Given the description of an element on the screen output the (x, y) to click on. 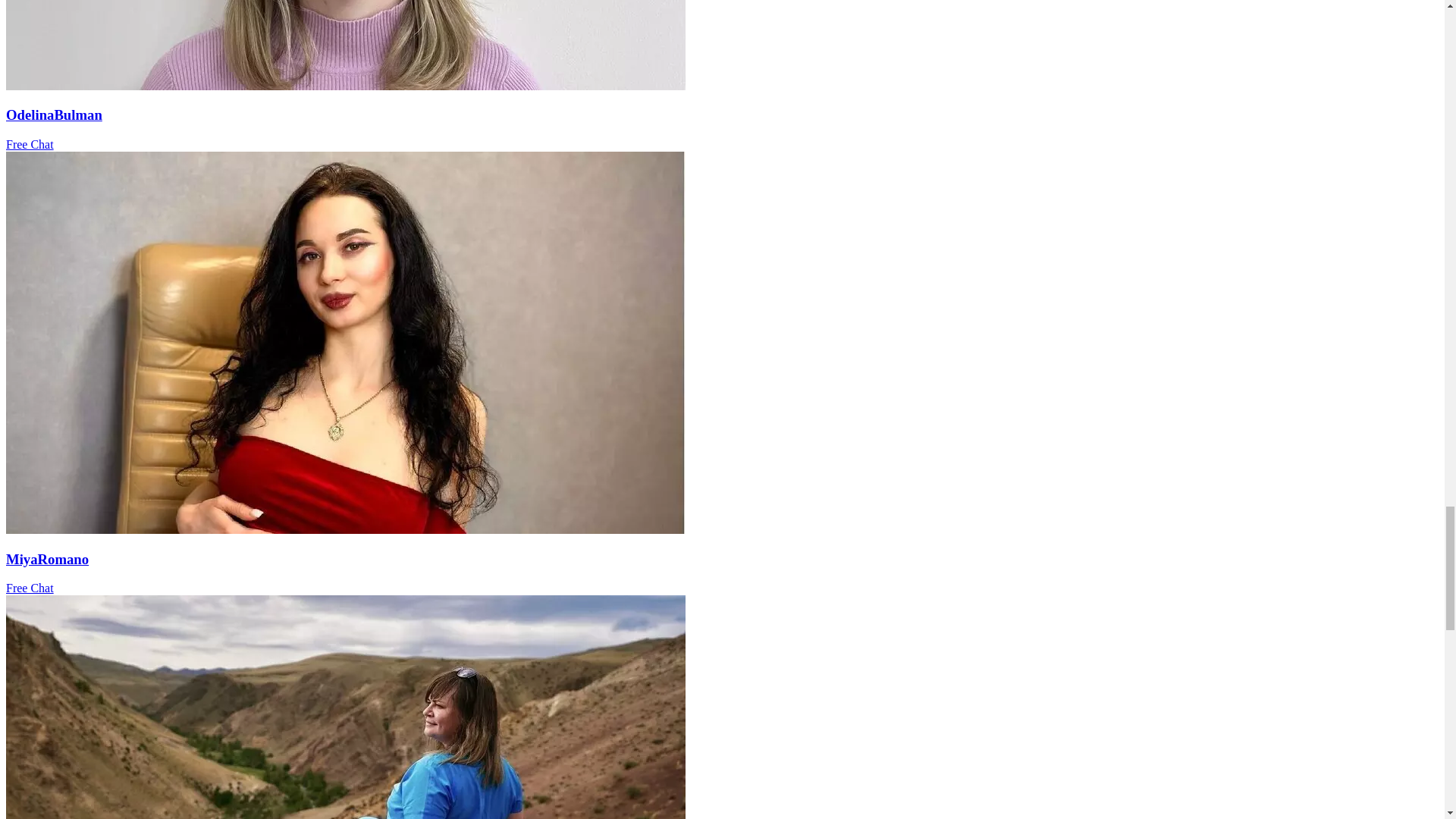
Live Sex Chat with OdelinaBulman (345, 85)
